Given the description of an element on the screen output the (x, y) to click on. 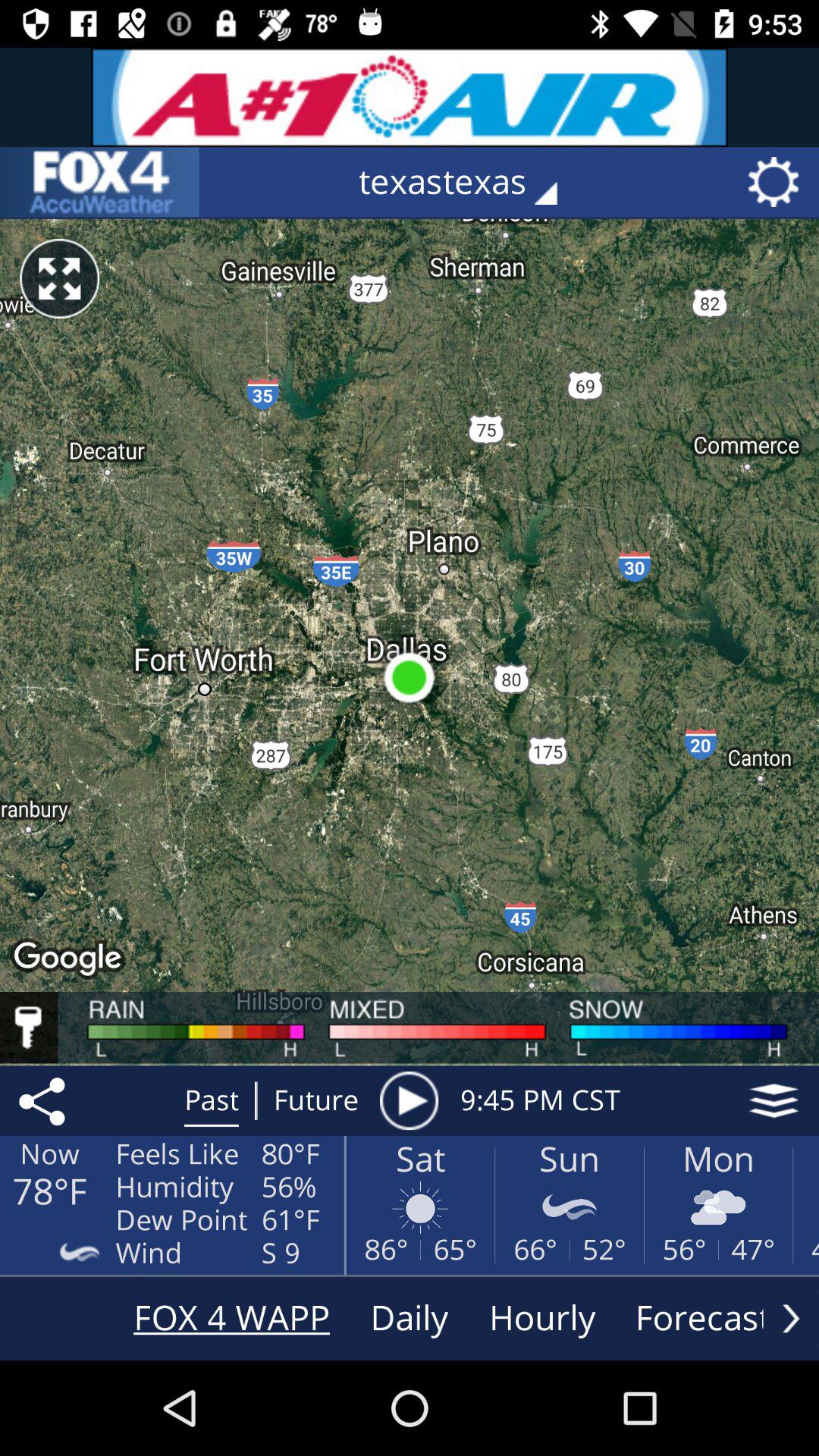
select the item above the sat (409, 1100)
